Given the description of an element on the screen output the (x, y) to click on. 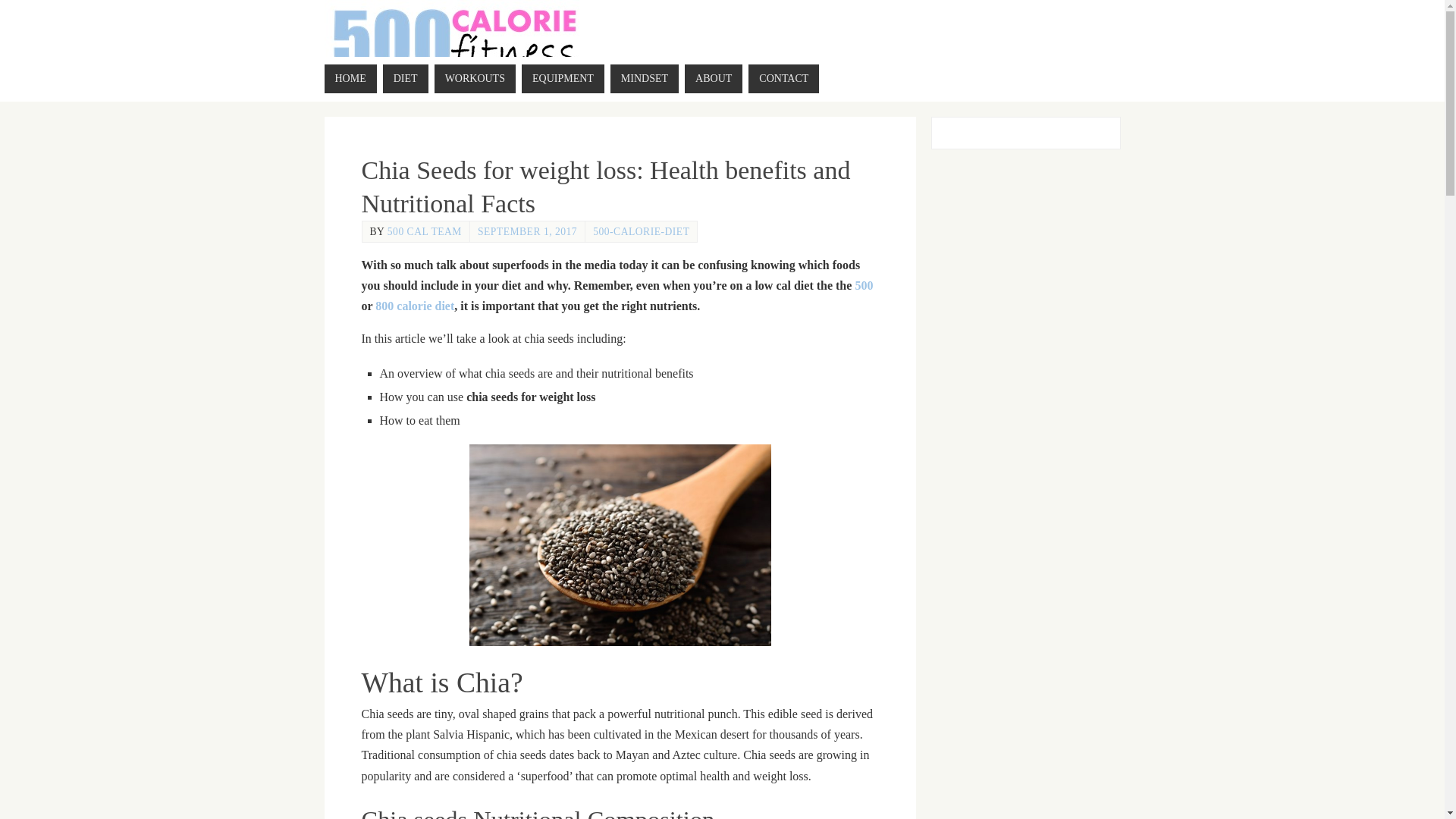
500 (863, 285)
CONTACT (783, 78)
WORKOUTS (474, 78)
SEPTEMBER 1, 2017 (526, 231)
HOME (350, 78)
500 CAL TEAM (424, 231)
DIET (405, 78)
MINDSET (644, 78)
View all posts by 500 Cal team (424, 231)
EQUIPMENT (562, 78)
